Given the description of an element on the screen output the (x, y) to click on. 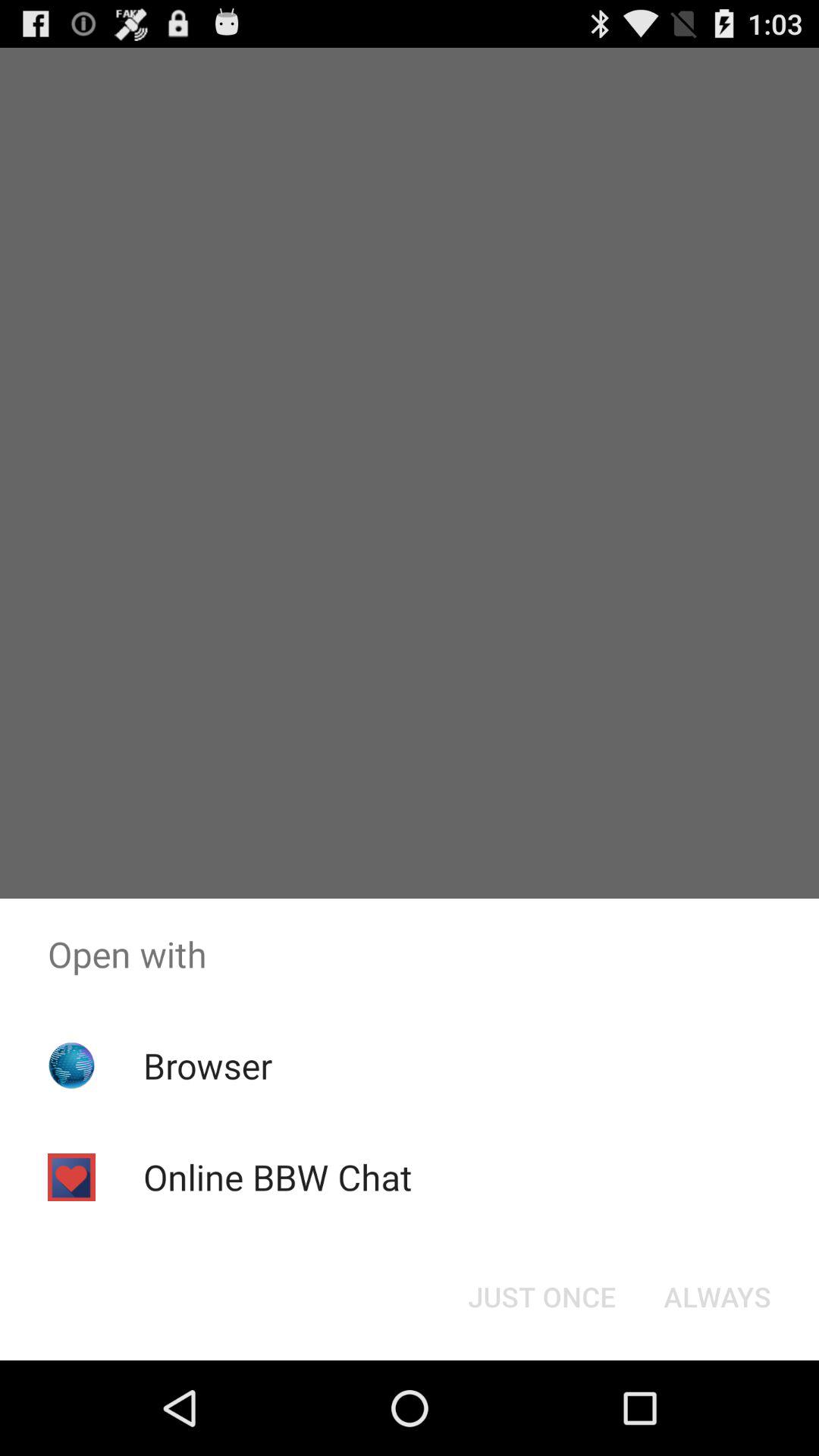
press the app below open with (717, 1296)
